Given the description of an element on the screen output the (x, y) to click on. 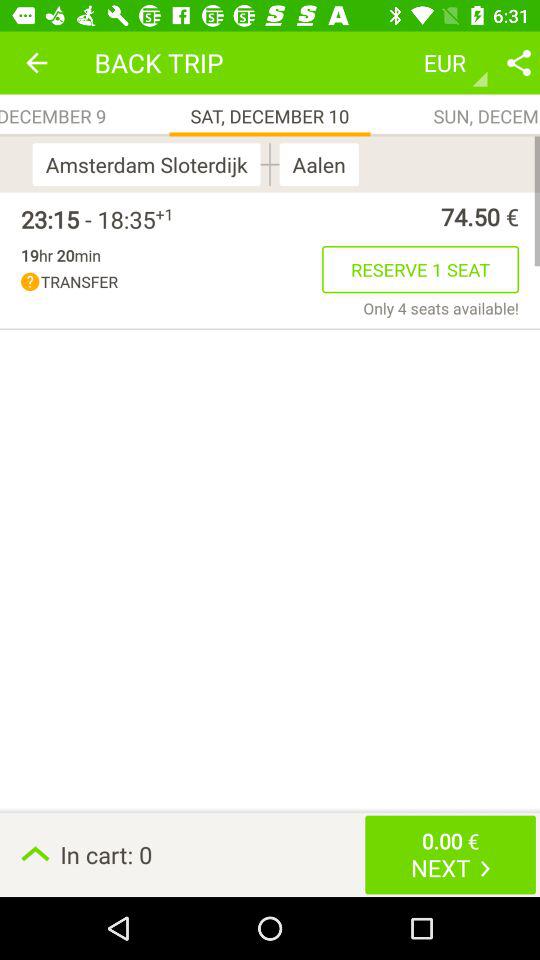
open icon next to the transfer (441, 308)
